Given the description of an element on the screen output the (x, y) to click on. 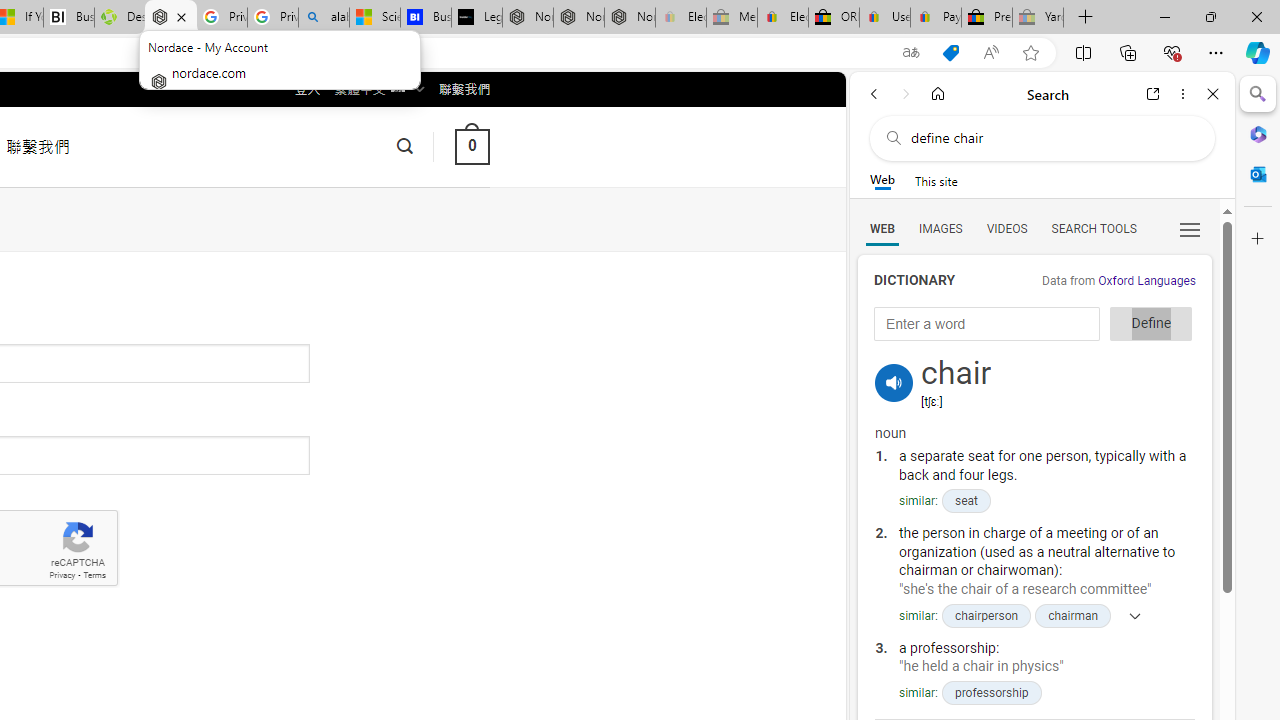
Link for logging (893, 359)
